Given the description of an element on the screen output the (x, y) to click on. 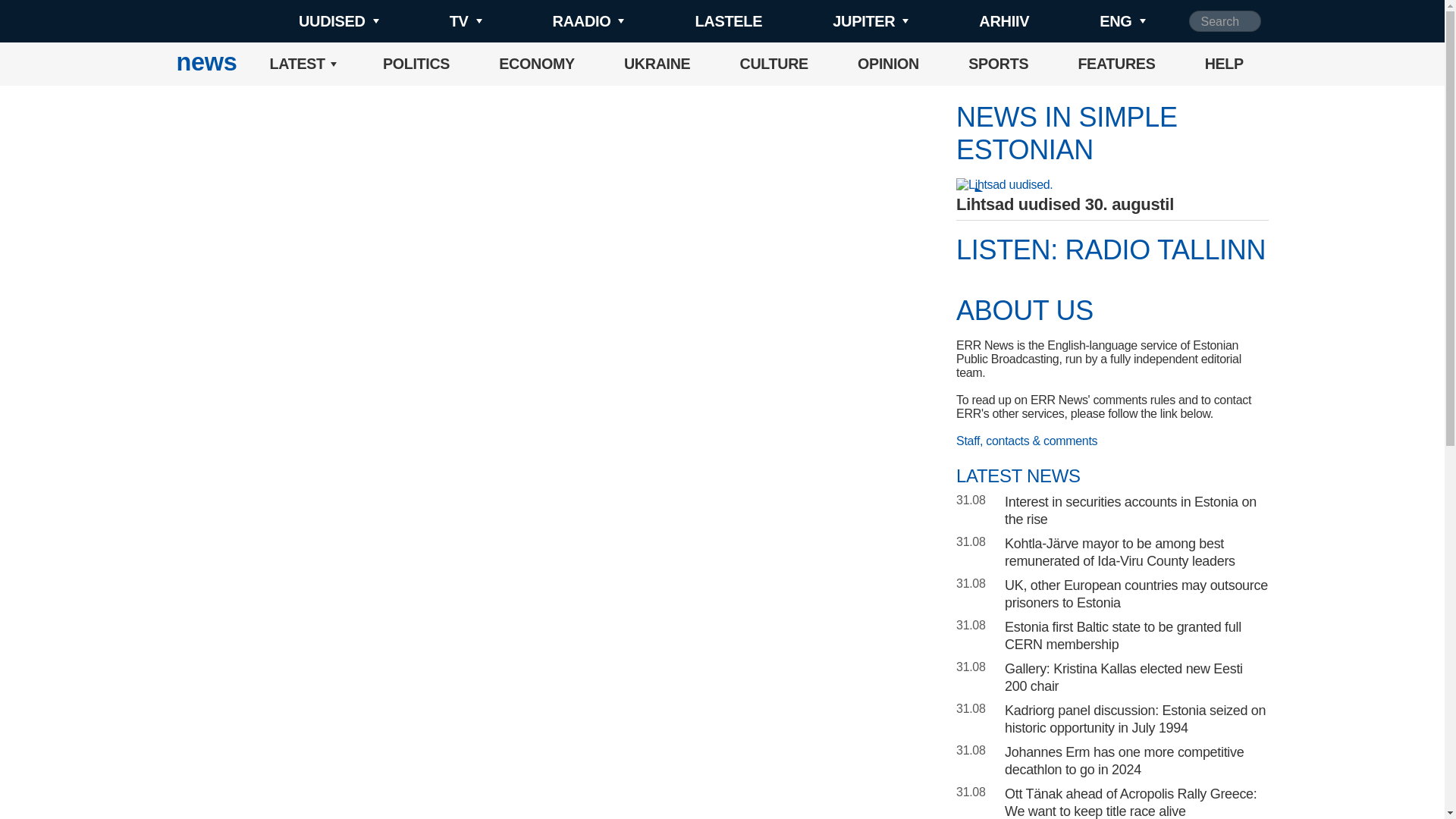
RAADIO (563, 21)
UUDISED (314, 21)
Avalehele (205, 63)
TV (440, 21)
